Given the description of an element on the screen output the (x, y) to click on. 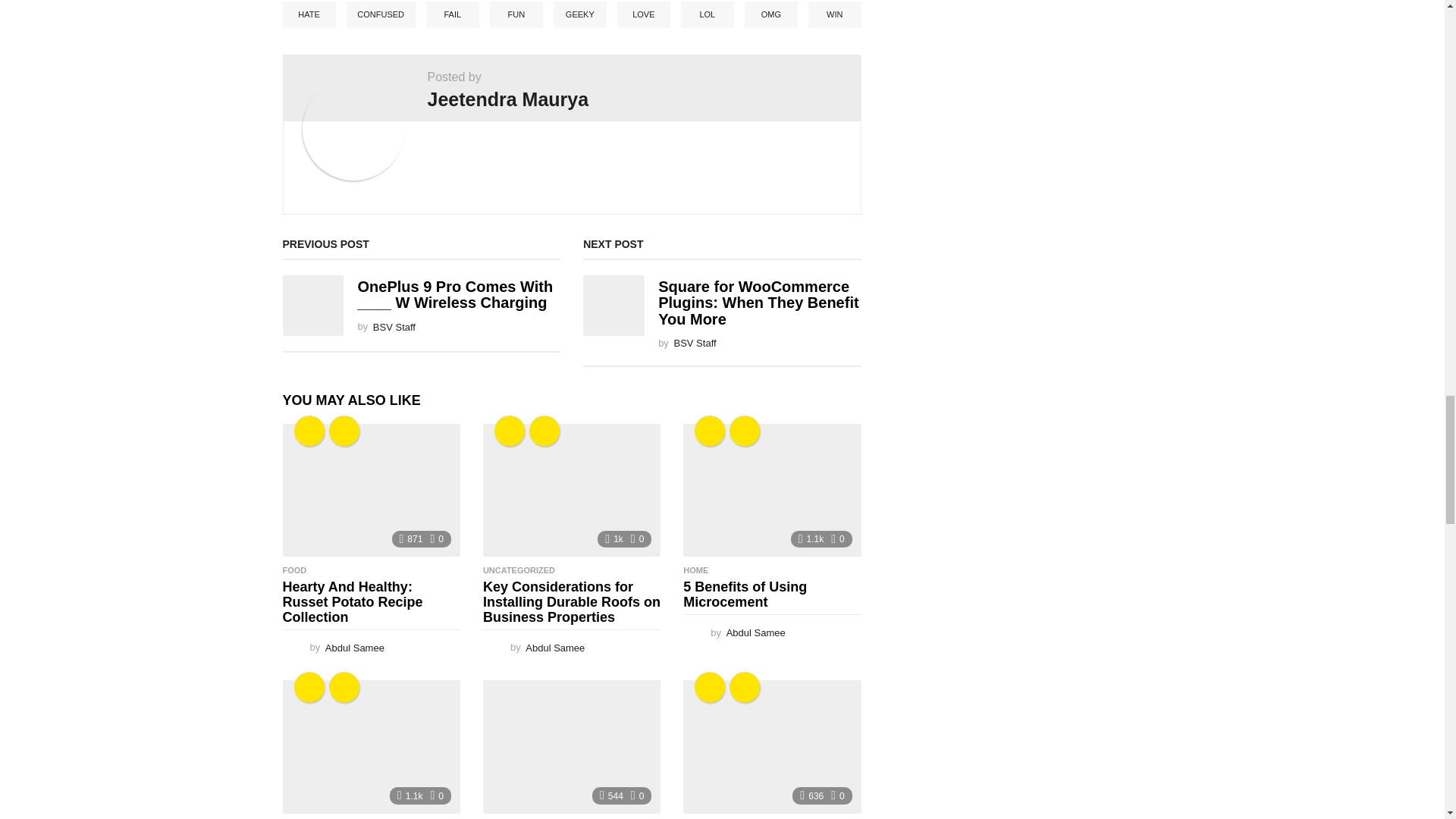
geeky (309, 430)
Hearty And Healthy: Russet Potato Recipe Collection (371, 490)
win (344, 430)
